Given the description of an element on the screen output the (x, y) to click on. 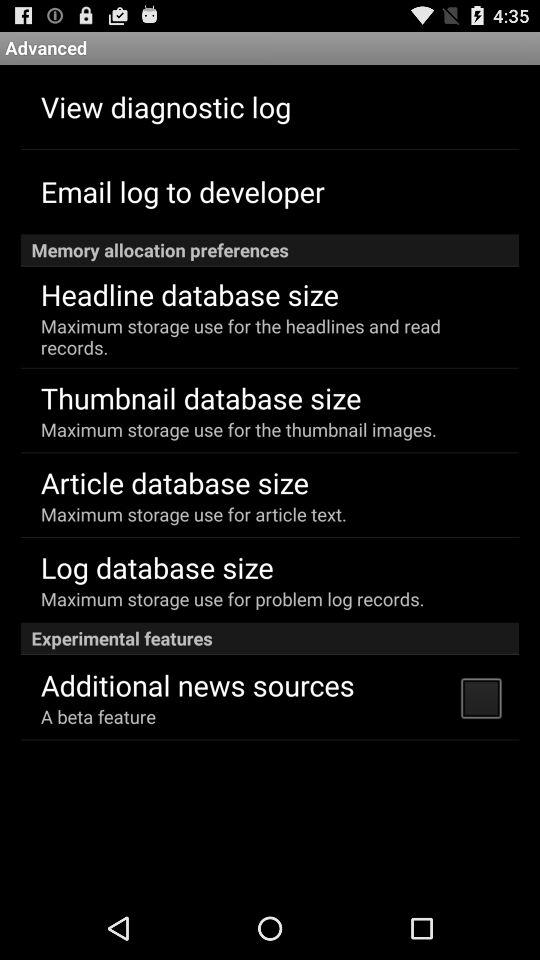
jump until a beta feature app (98, 716)
